Given the description of an element on the screen output the (x, y) to click on. 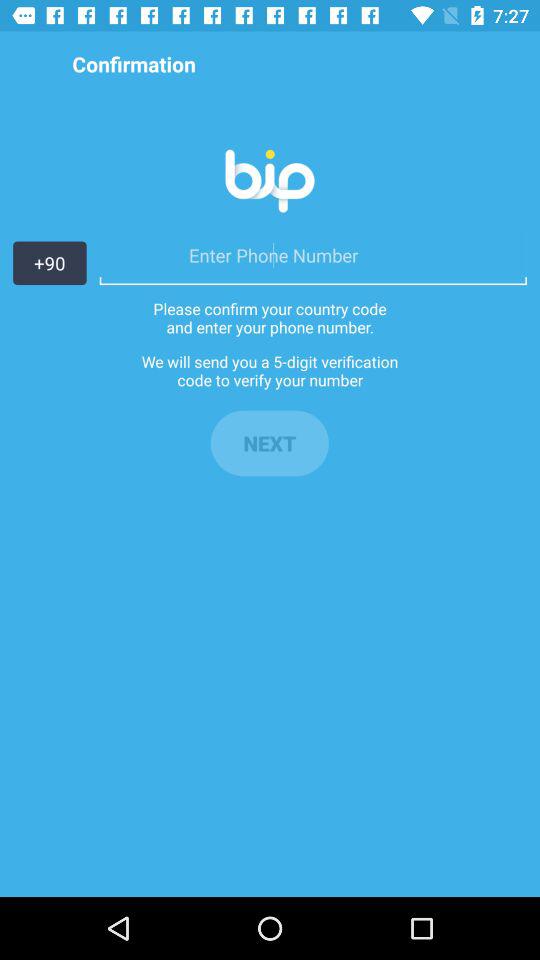
turn on +90 (49, 263)
